Given the description of an element on the screen output the (x, y) to click on. 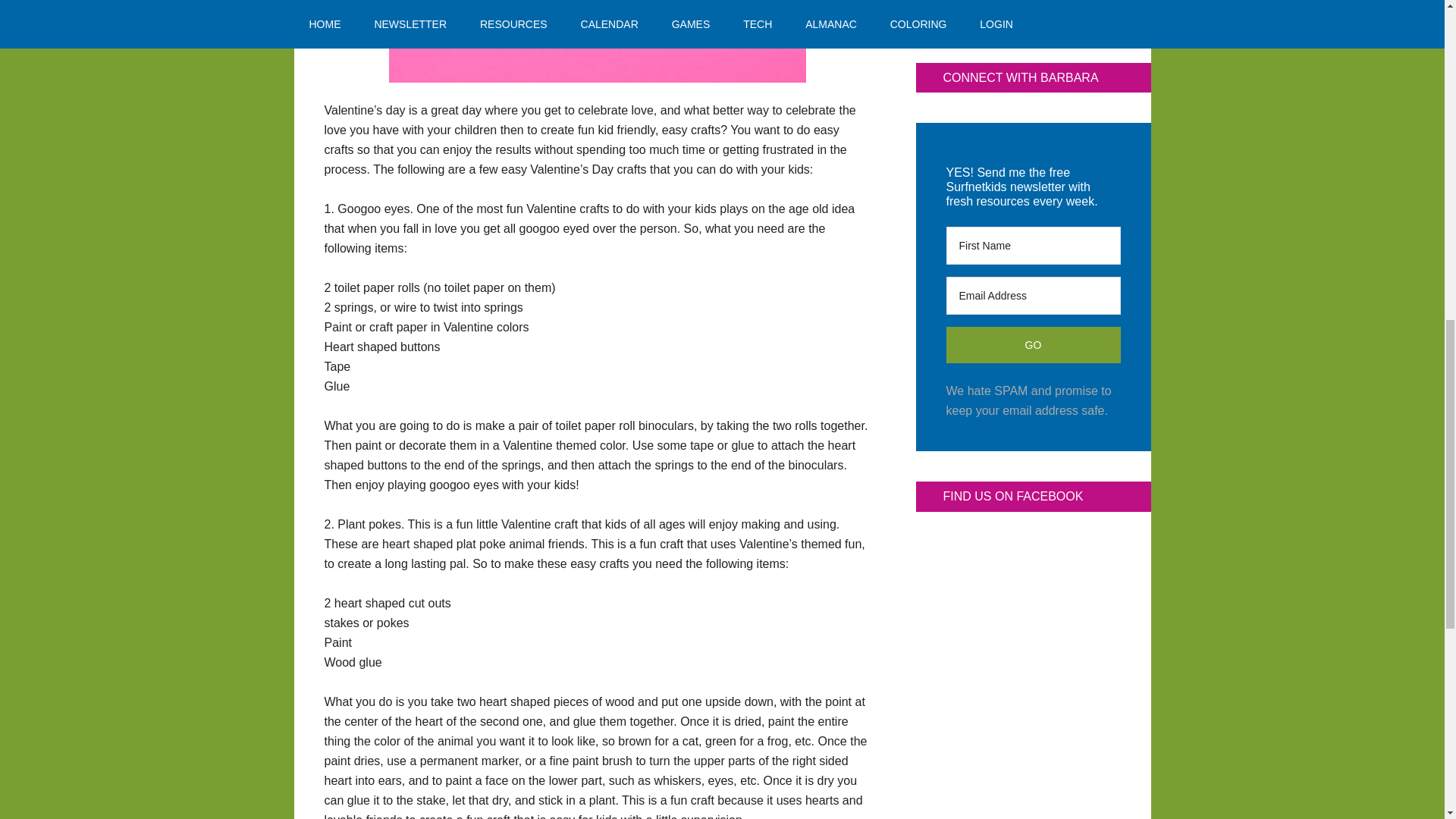
Go (1033, 344)
